Given the description of an element on the screen output the (x, y) to click on. 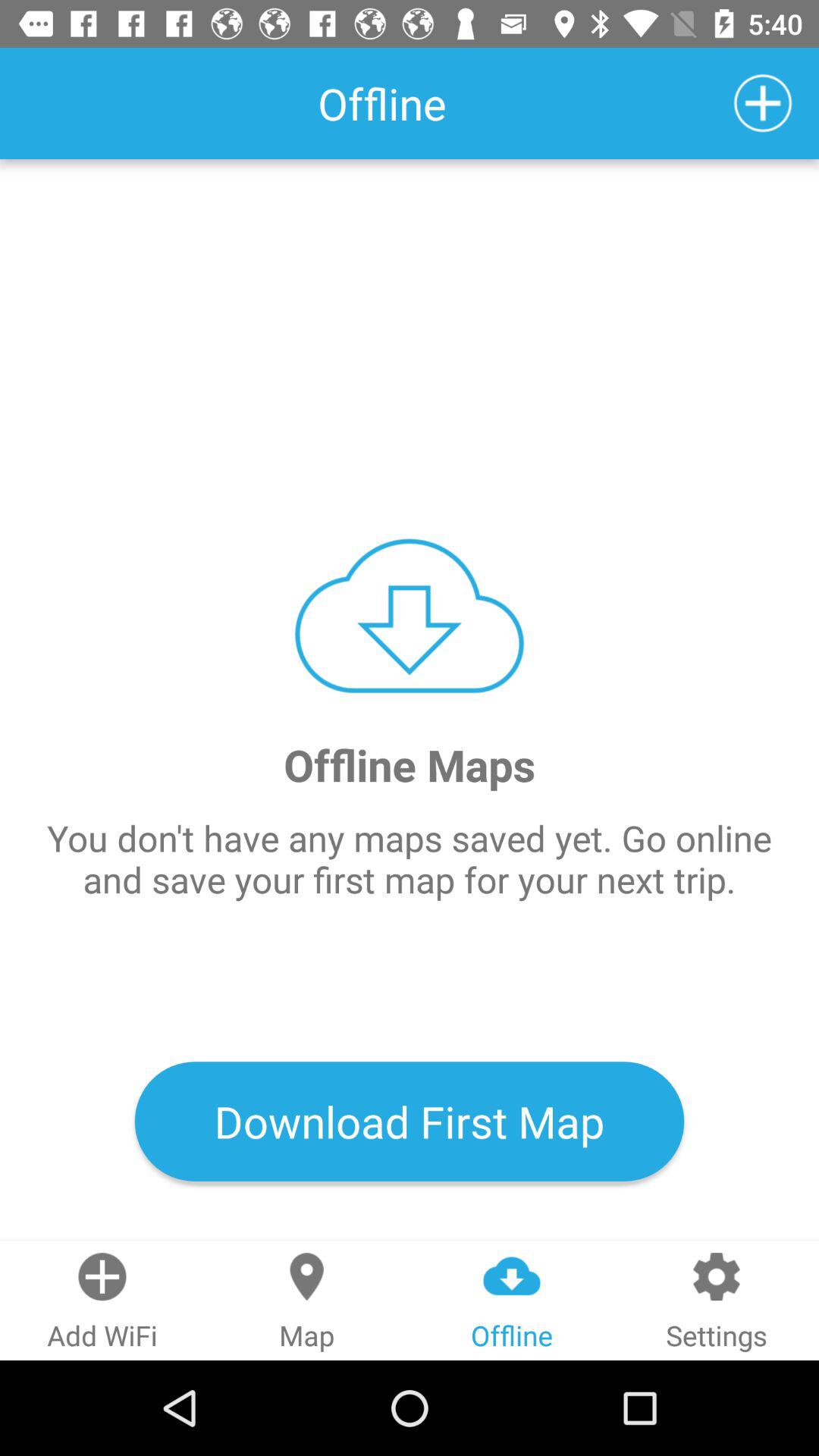
turn on the item above the offline maps item (762, 103)
